Given the description of an element on the screen output the (x, y) to click on. 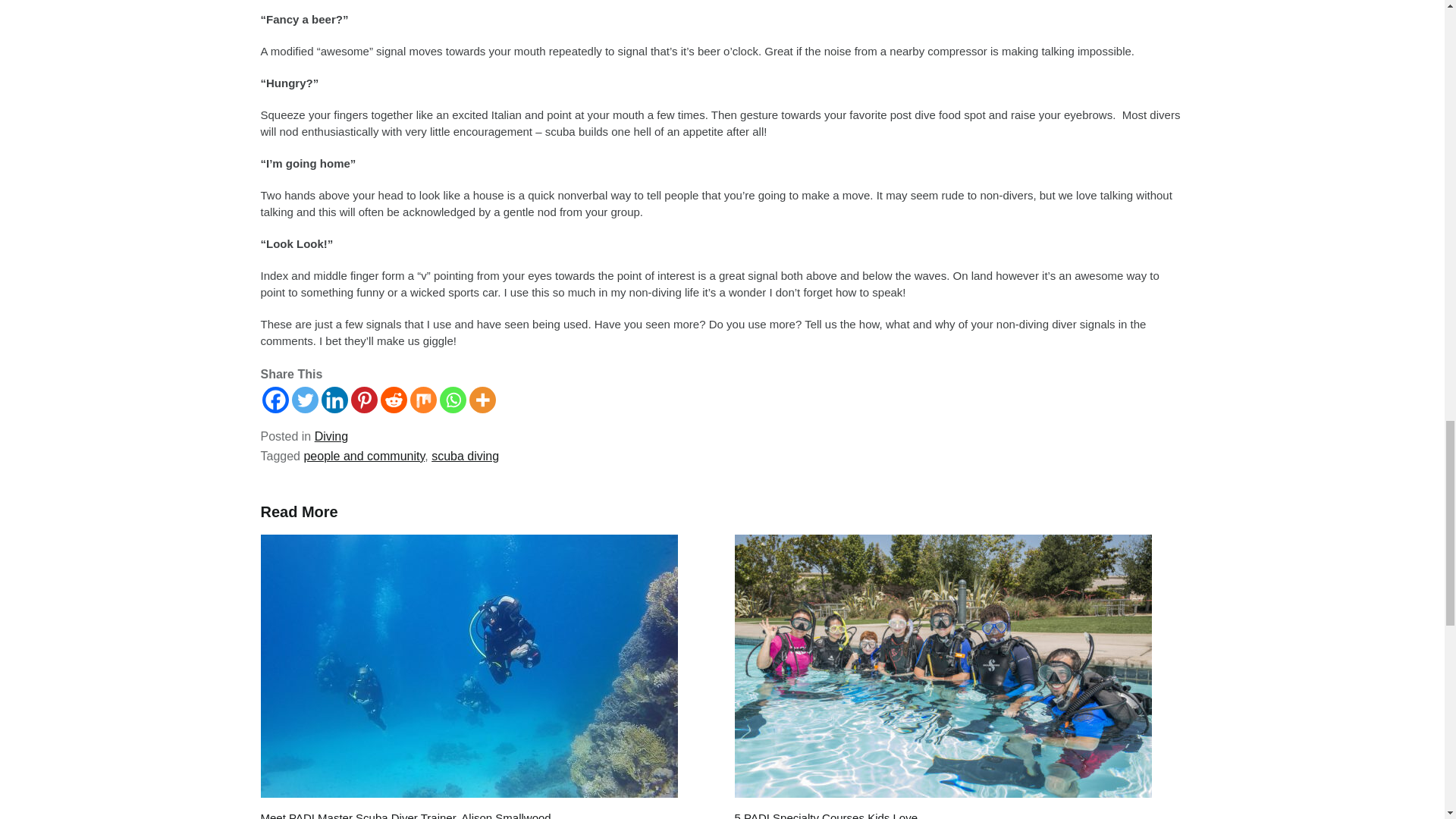
Reddit (393, 399)
Twitter (304, 399)
Linkedin (334, 399)
Facebook (275, 399)
Pinterest (363, 399)
